Given the description of an element on the screen output the (x, y) to click on. 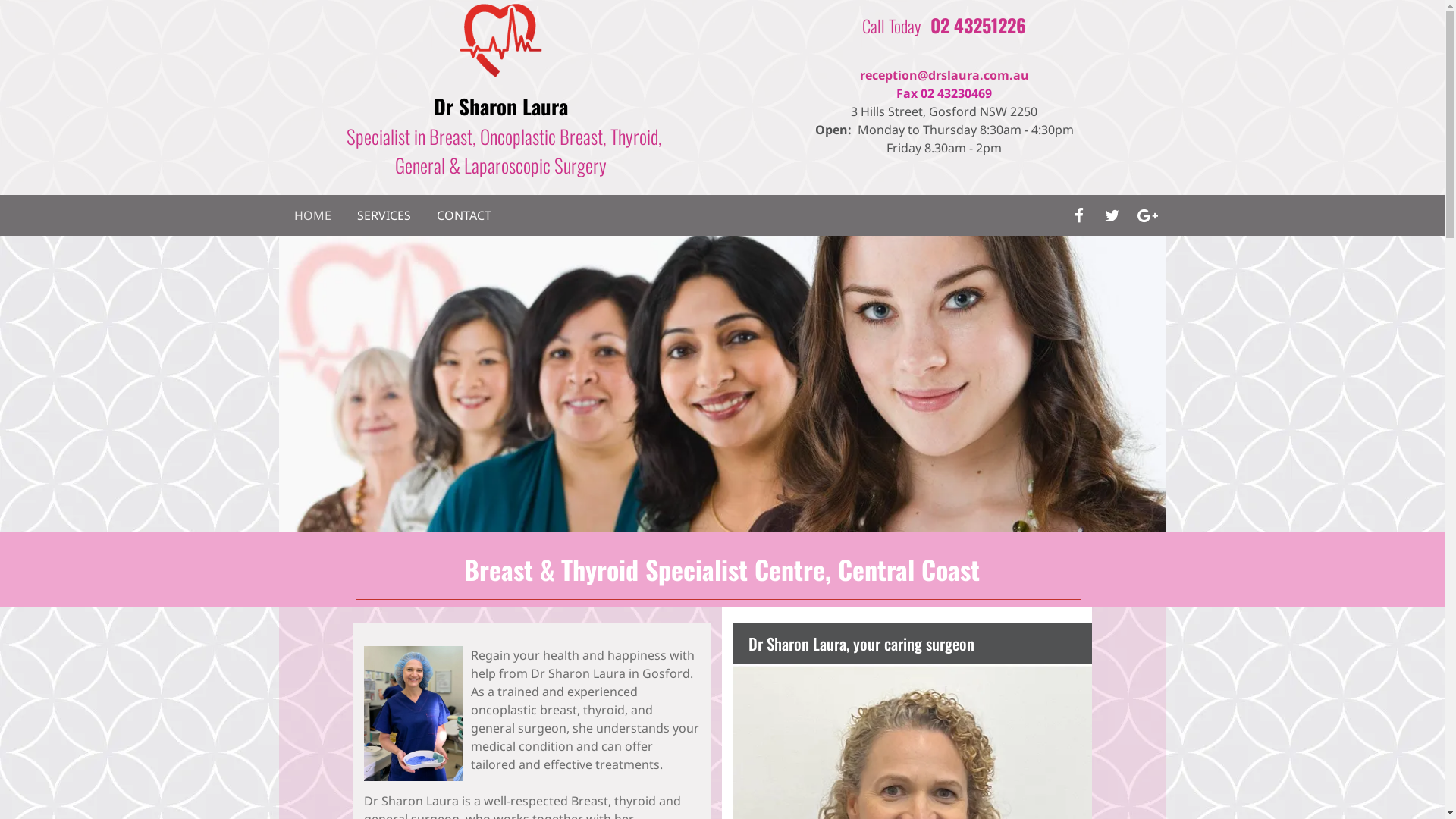
HOME Element type: text (312, 215)
reception@drslaura.com.au Element type: text (944, 74)
CONTACT Element type: text (463, 215)
SERVICES Element type: text (383, 215)
dr sharon laura gosford Element type: hover (500, 39)
laparoscopic surgeon dr sharon laura gosford Element type: hover (722, 383)
 02  Element type: text (939, 24)
